Given the description of an element on the screen output the (x, y) to click on. 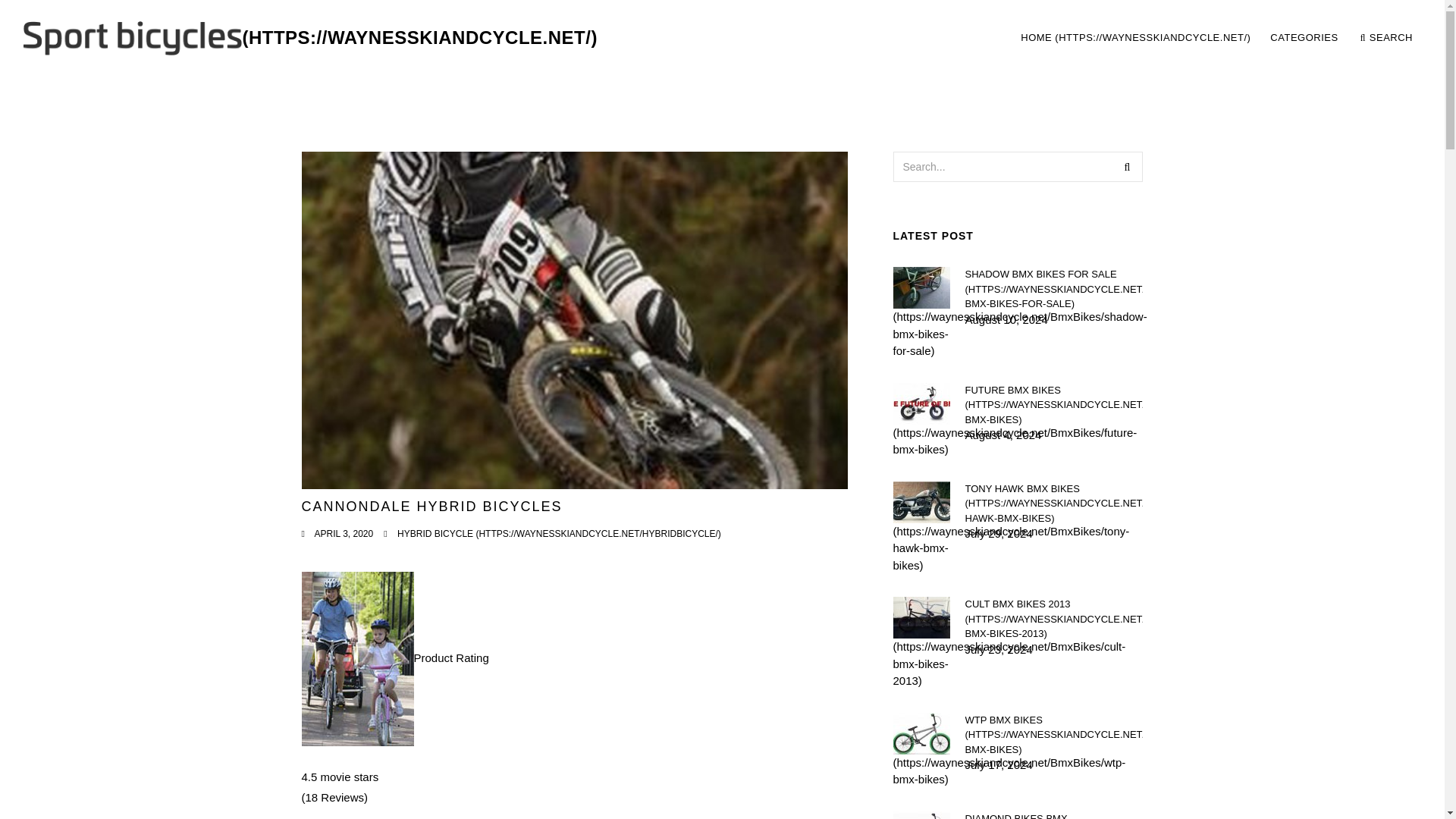
CATEGORIES (1304, 38)
TONY HAWK BMX BIKES (1052, 502)
Search (1126, 166)
Sport bicycles (1216, 38)
SHADOW BMX BIKES FOR SALE (309, 38)
SEARCH (1052, 289)
FUTURE BMX BIKES (1386, 38)
HYBRID BICYCLE (1052, 404)
HOME (558, 533)
